Given the description of an element on the screen output the (x, y) to click on. 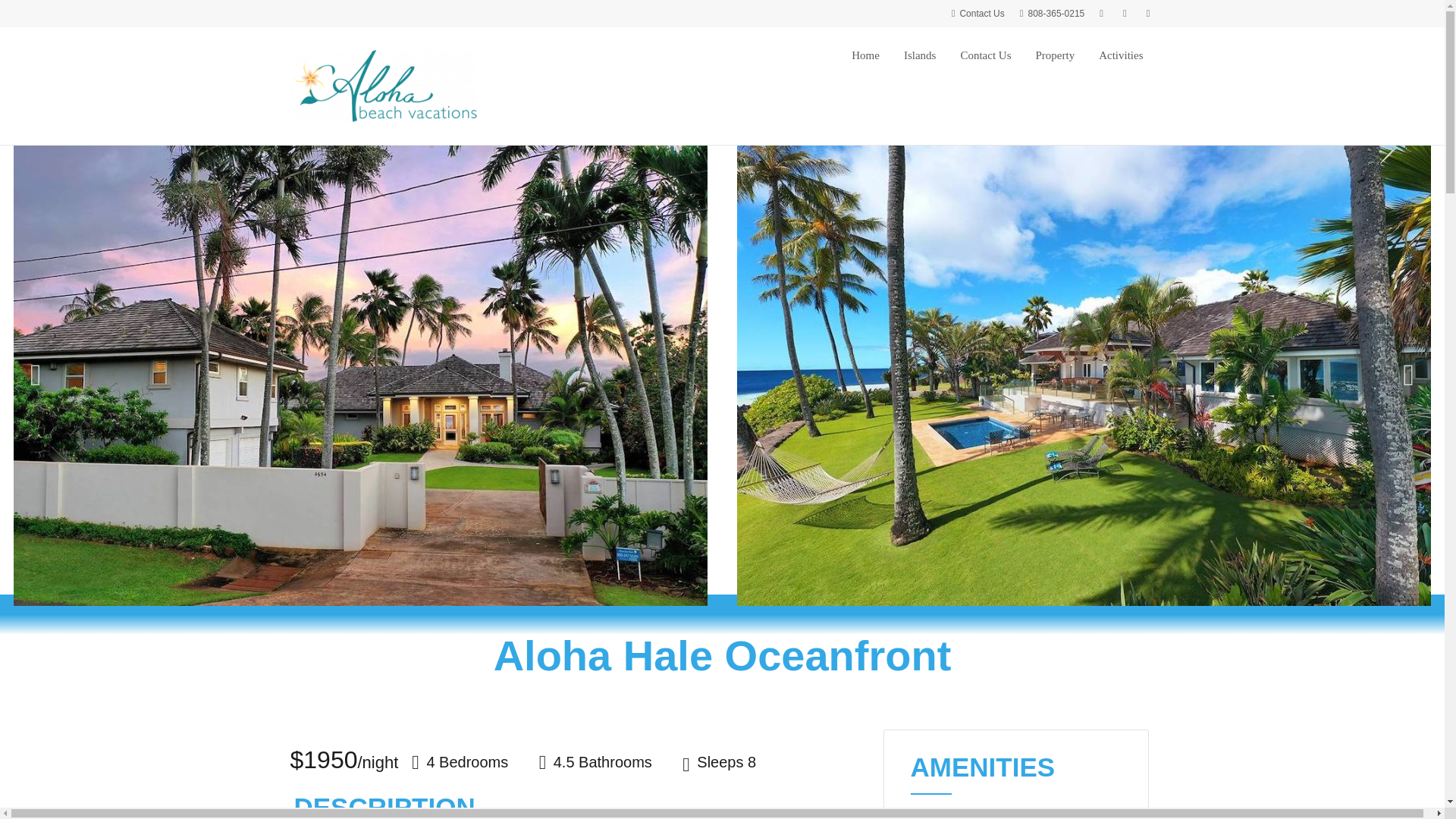
Property (1055, 55)
Activities (1120, 55)
Contact Us (984, 55)
808-365-0215 (1052, 13)
Contact Us (978, 13)
